Given the description of an element on the screen output the (x, y) to click on. 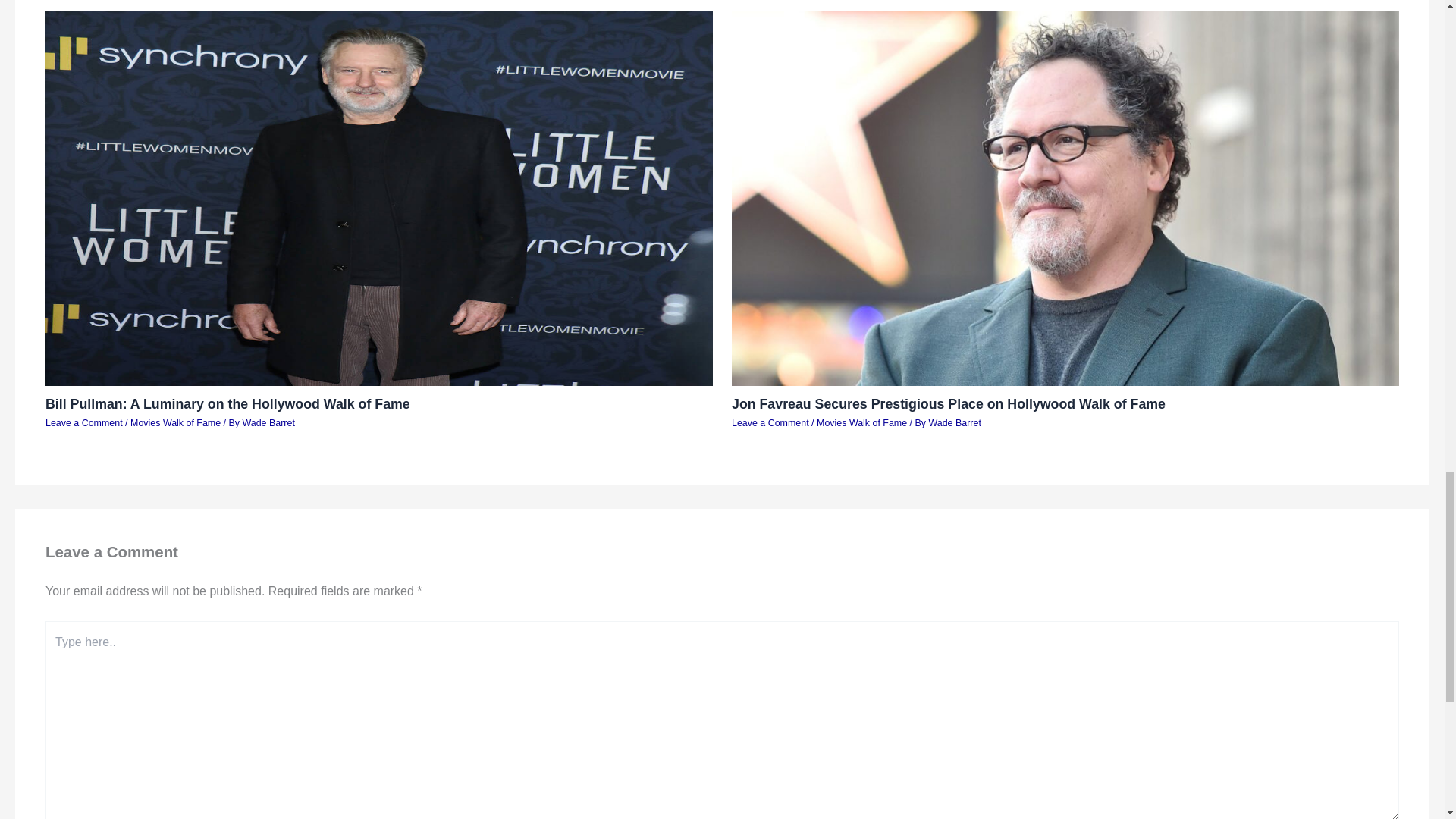
Bill Pullman: A Luminary on the Hollywood Walk of Fame (227, 403)
View all posts by Wade Barret (267, 422)
Movies Walk of Fame (176, 422)
Wade Barret (953, 422)
Leave a Comment (83, 422)
View all posts by Wade Barret (953, 422)
Leave a Comment (770, 422)
Movies Walk of Fame (861, 422)
Wade Barret (267, 422)
